Given the description of an element on the screen output the (x, y) to click on. 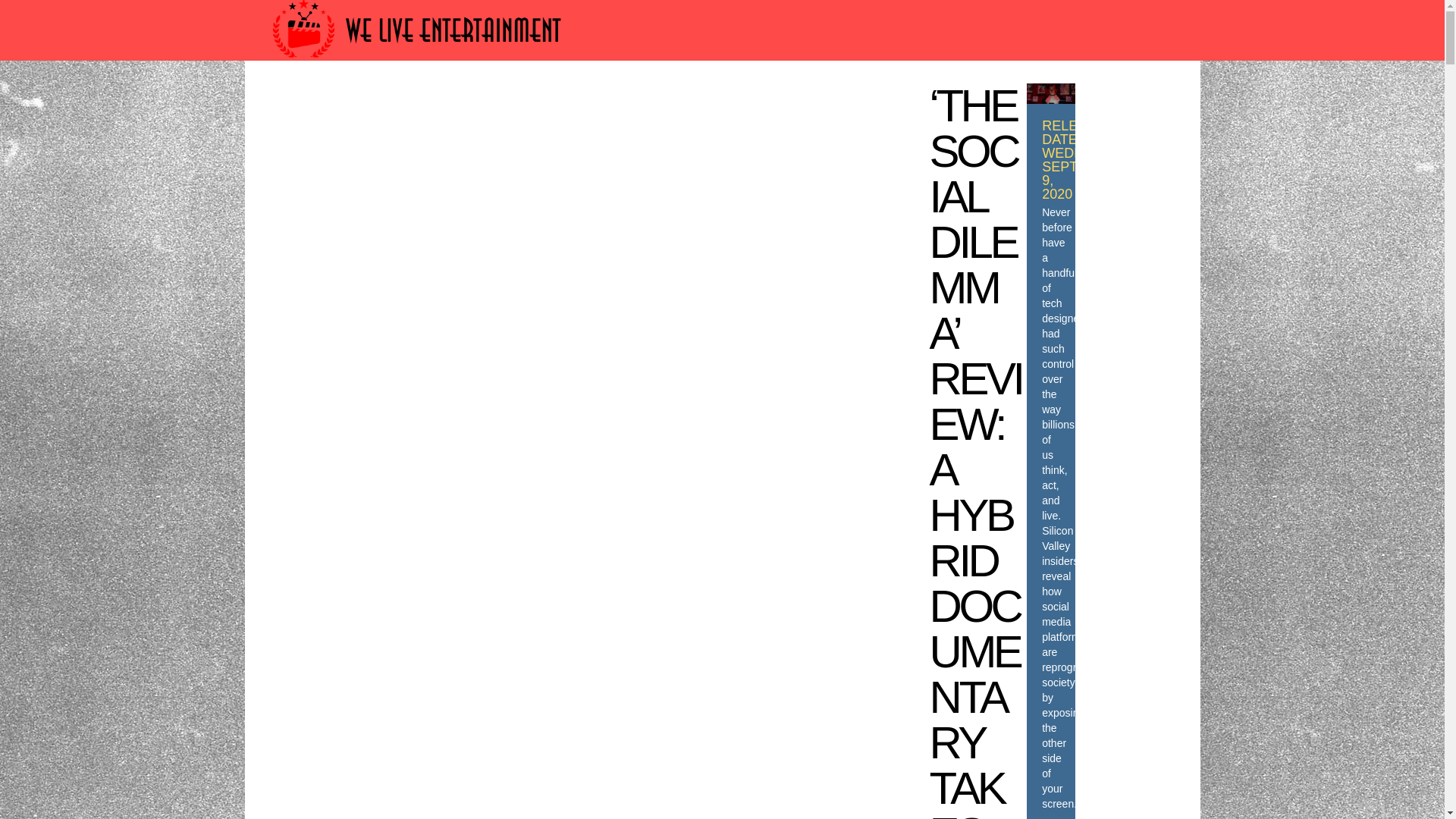
WE LIVE AWARDS (421, 103)
WE LIVE TV SHOWS (671, 103)
WE LIVE FILM (542, 103)
HOME (325, 103)
We Live Entertainment (418, 63)
WE LIVE ENTERTAINMENT (841, 103)
